Given the description of an element on the screen output the (x, y) to click on. 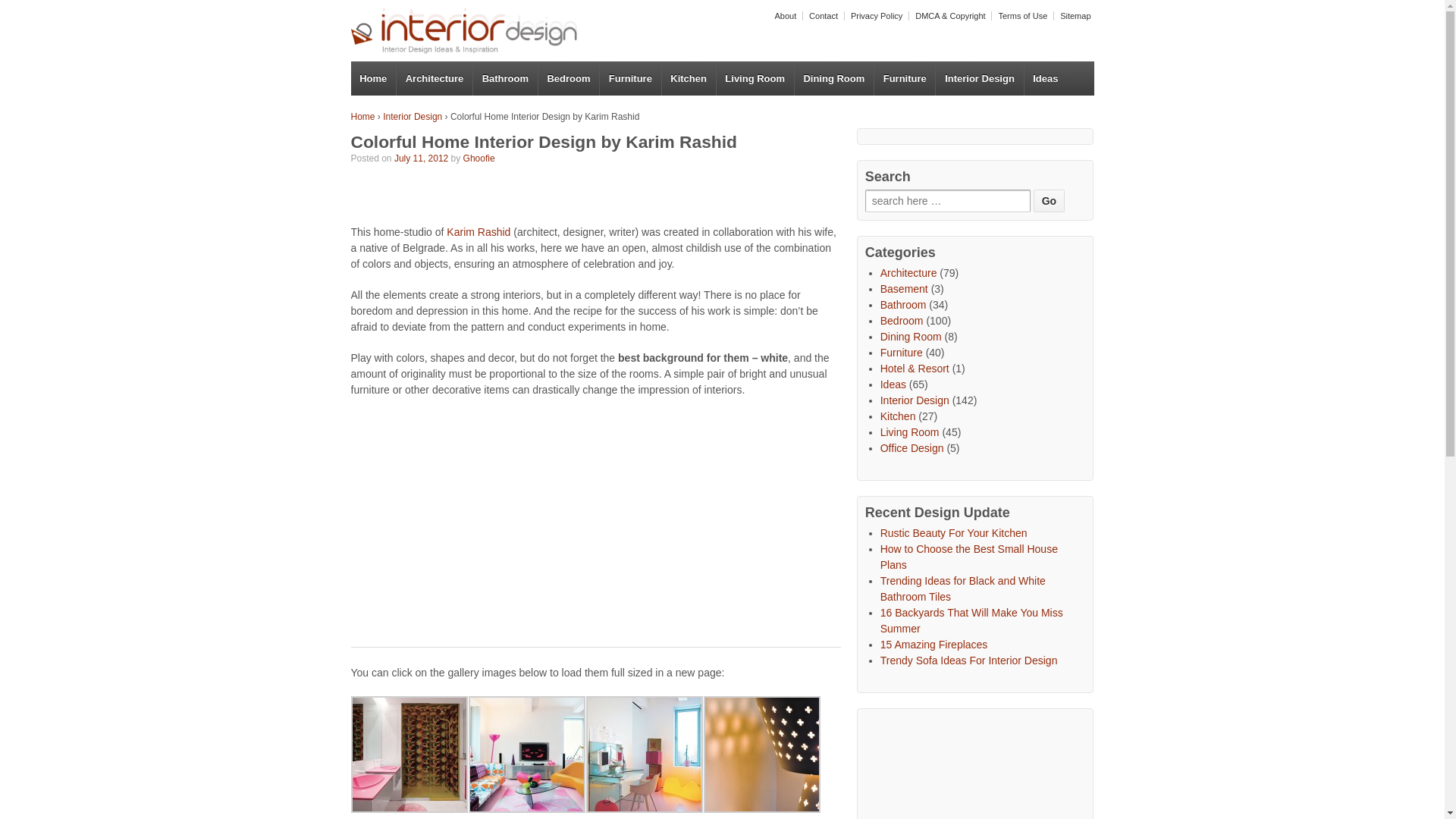
Advertisement (978, 767)
Interior Design (978, 78)
Dining Room (833, 78)
Karim Rashid (478, 232)
Home (373, 78)
8:59 pm (421, 158)
Interior Design (412, 116)
Bedroom (567, 78)
Contact (821, 15)
Bathroom (504, 78)
